Given the description of an element on the screen output the (x, y) to click on. 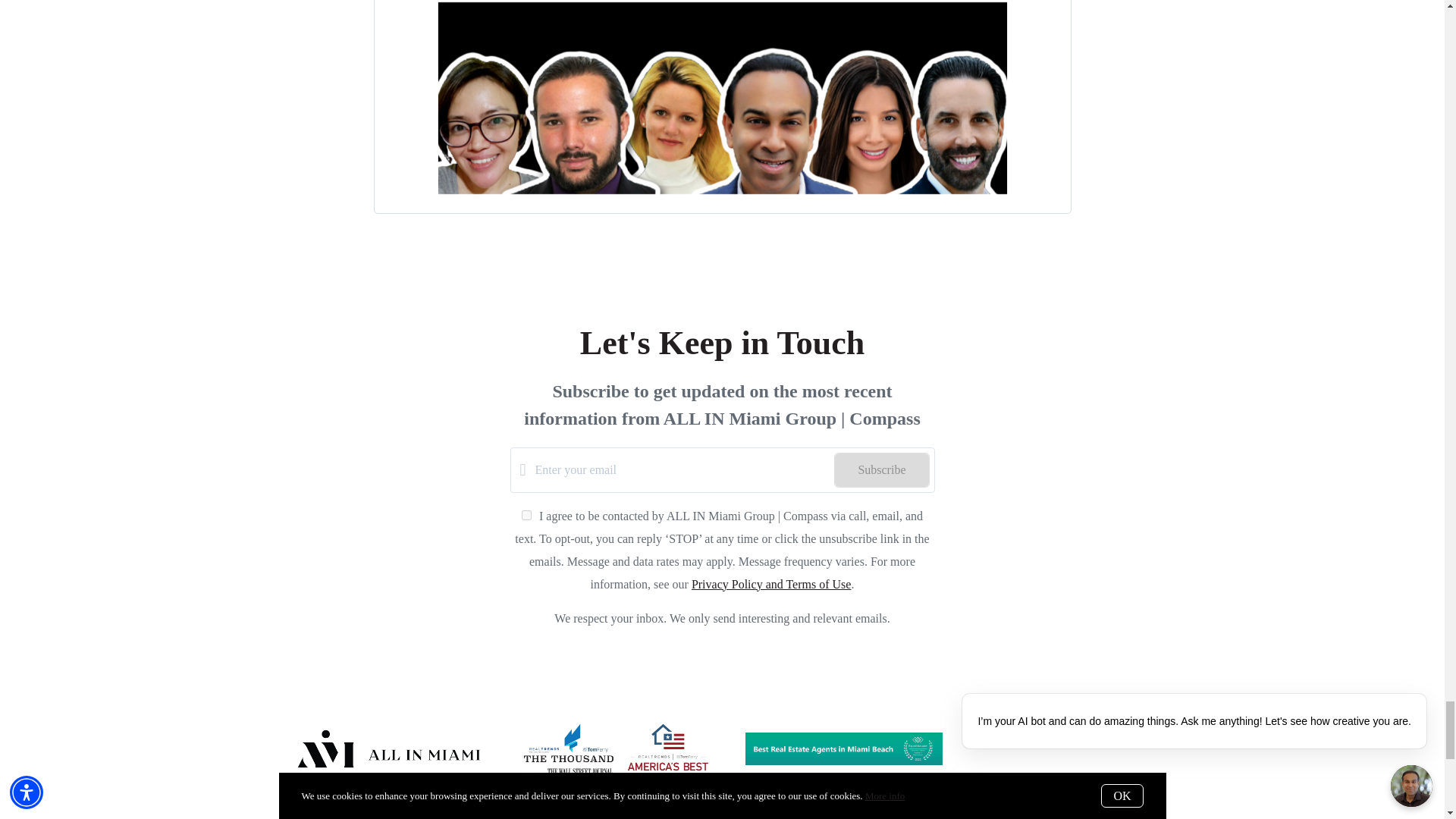
on (526, 515)
Subscribe (881, 469)
Privacy Policy and Terms of Use (771, 584)
